Given the description of an element on the screen output the (x, y) to click on. 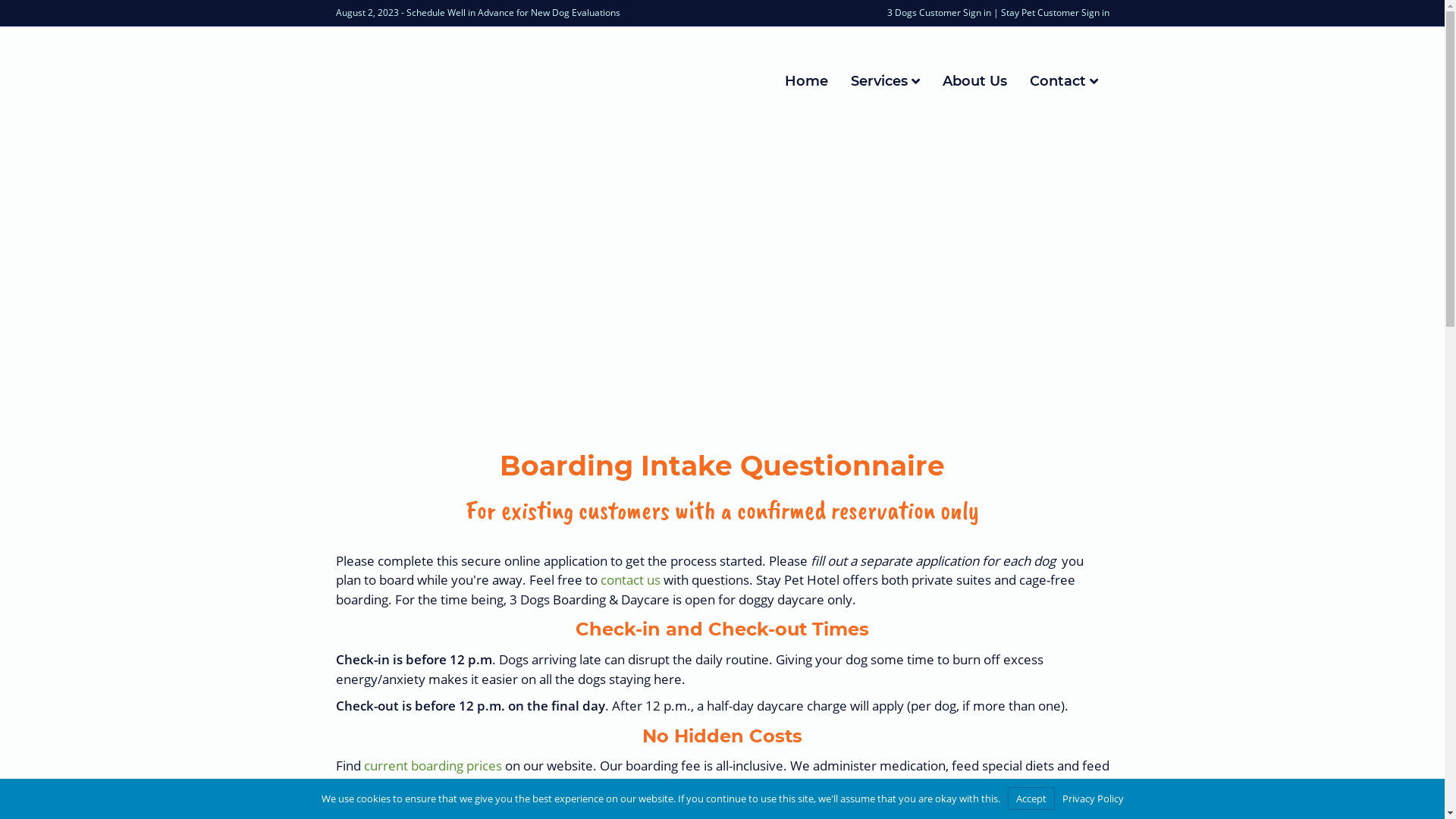
Contact Element type: text (1062, 81)
3 Dogs Customer Sign in | Stay Pet Customer Sign in Element type: text (998, 12)
current boarding prices Element type: text (433, 765)
Accept Element type: text (1030, 798)
Home Element type: text (806, 81)
Privacy Policy Element type: text (1092, 798)
About Us Element type: text (974, 81)
Services Element type: text (884, 81)
contact us Element type: text (630, 579)
